Given the description of an element on the screen output the (x, y) to click on. 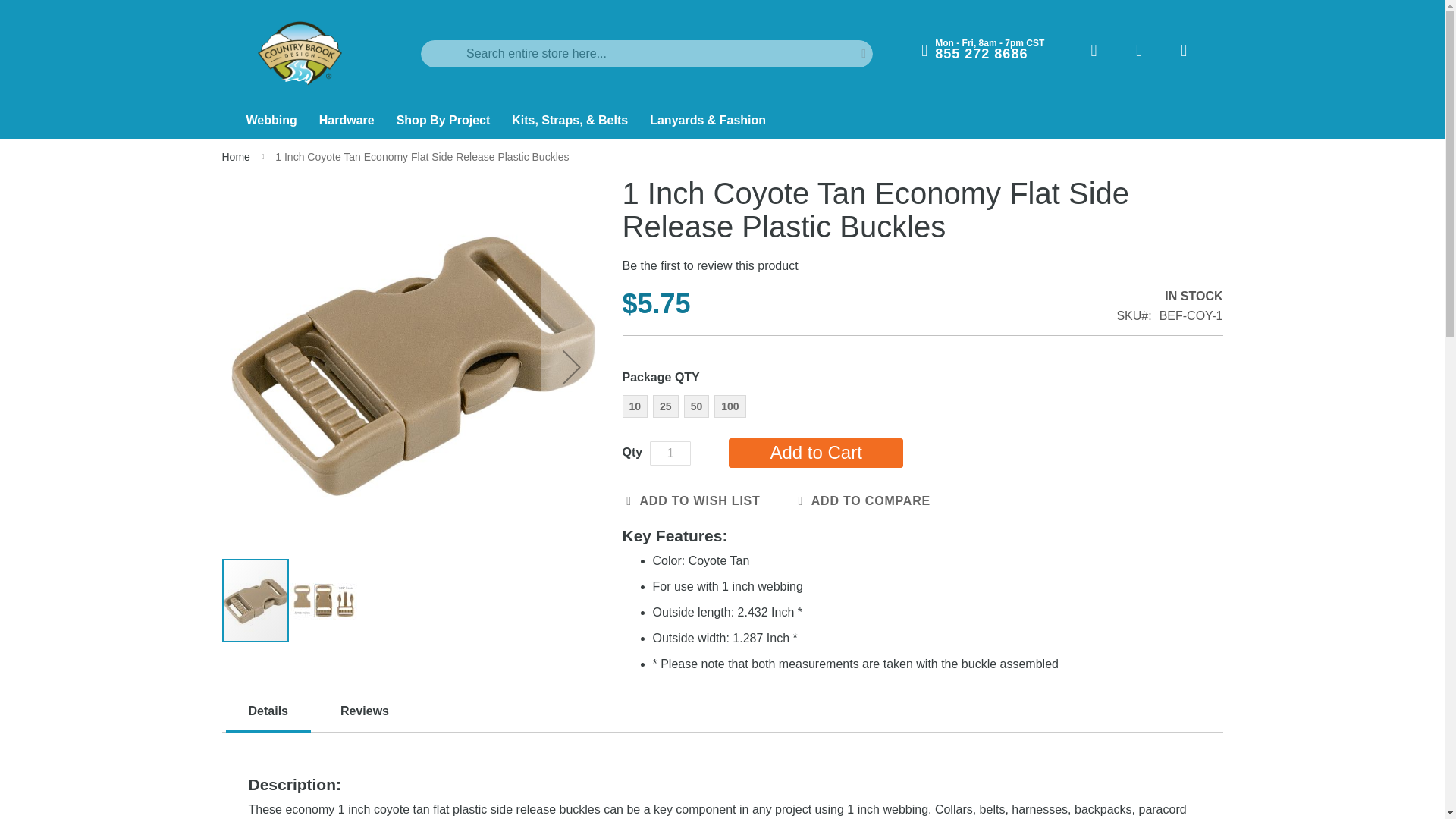
Availability (1169, 296)
855 272 8686 (980, 53)
Hardware (348, 120)
Country Brook Design Logo (299, 53)
Add to Cart (815, 452)
Quantity (669, 453)
Webbing (271, 120)
Go to Home Page (236, 156)
1 (669, 453)
